Given the description of an element on the screen output the (x, y) to click on. 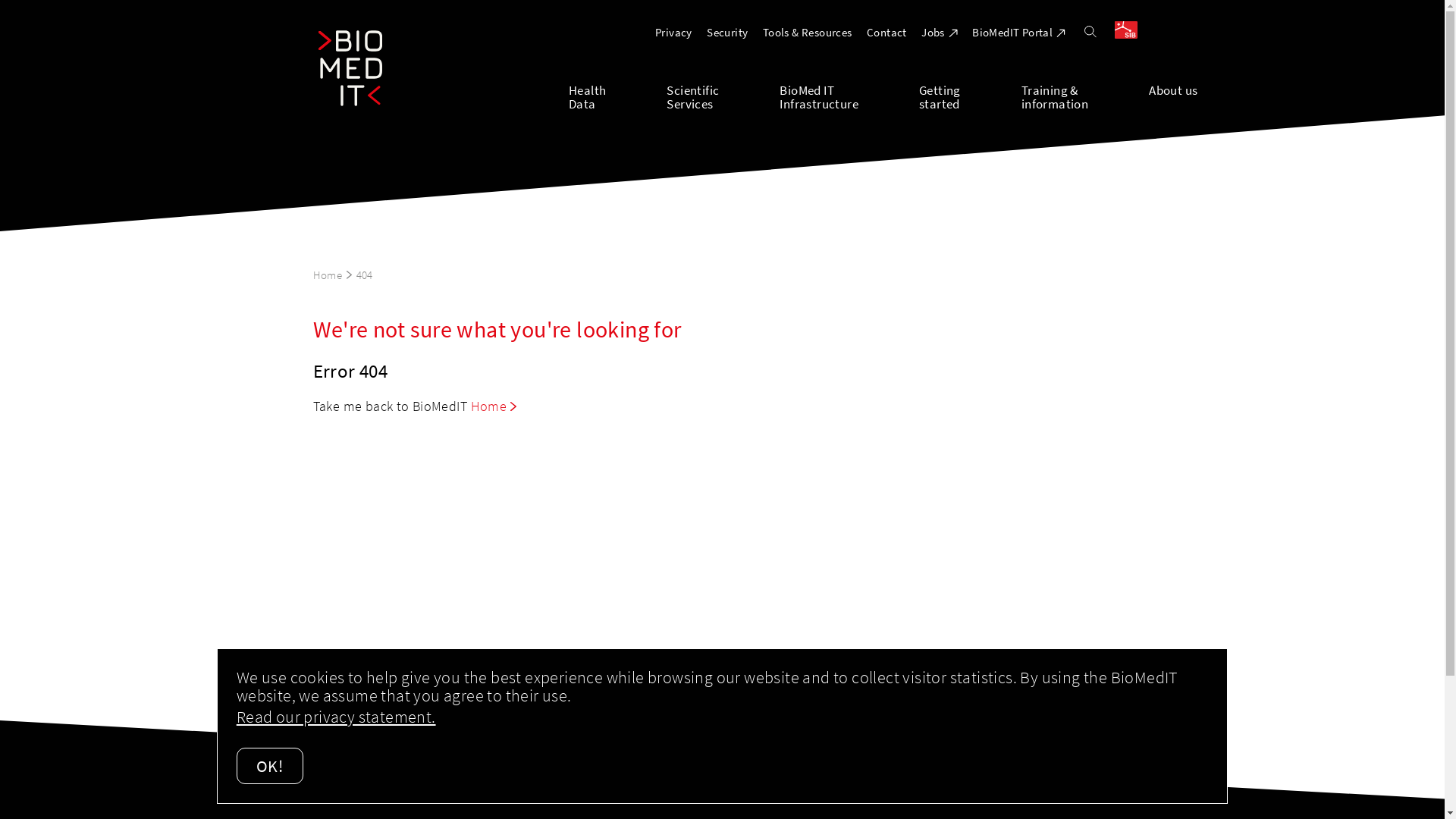
Contact Element type: text (886, 32)
Security Element type: text (726, 32)
Home Element type: text (493, 405)
OK! Element type: text (269, 765)
About us Element type: text (1172, 95)
Scientific Services Element type: text (722, 95)
Tools & Resources Element type: text (807, 32)
BioMed IT Infrastructure Element type: text (849, 95)
BioMedIT Portal Element type: text (1018, 32)
Training & information Element type: text (1084, 95)
Privacy Element type: text (673, 32)
Home Element type: text (332, 274)
Getting started Element type: text (970, 95)
Health Data Element type: text (617, 95)
Read our privacy statement. Element type: text (336, 716)
Jobs Element type: text (939, 32)
